Given the description of an element on the screen output the (x, y) to click on. 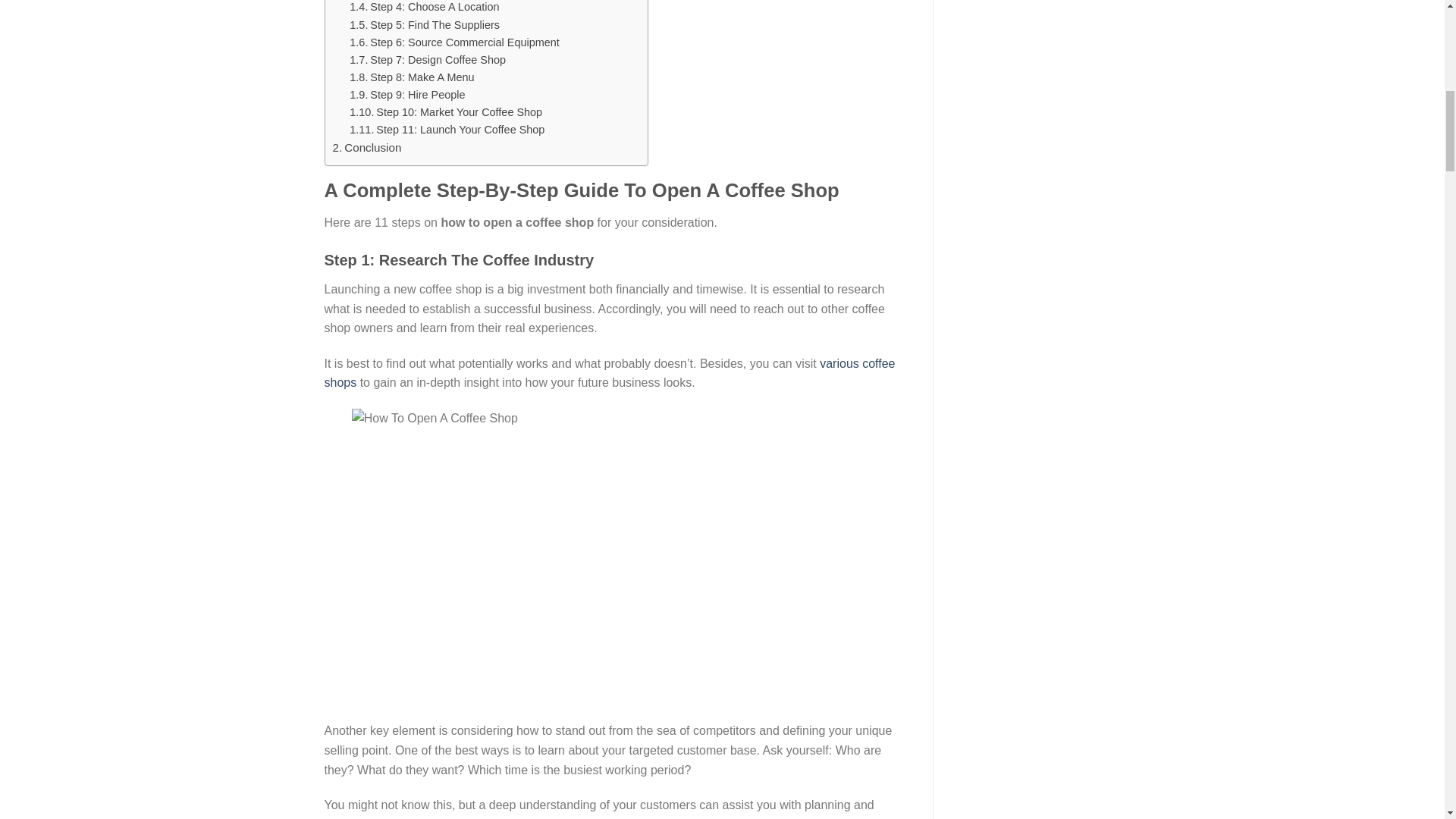
Step 5: Find The Suppliers (434, 24)
Step 4: Choose A Location (434, 6)
Step 6: Source Commercial Equipment (464, 42)
various coffee shops (609, 373)
Step 11: Launch Your Coffee Shop (459, 129)
Step 6: Source Commercial Equipment (464, 42)
Step 4: Choose A Location (434, 6)
Step 7: Design Coffee Shop (437, 60)
Step 7: Design Coffee Shop (437, 60)
Step 5: Find The Suppliers (434, 24)
